Given the description of an element on the screen output the (x, y) to click on. 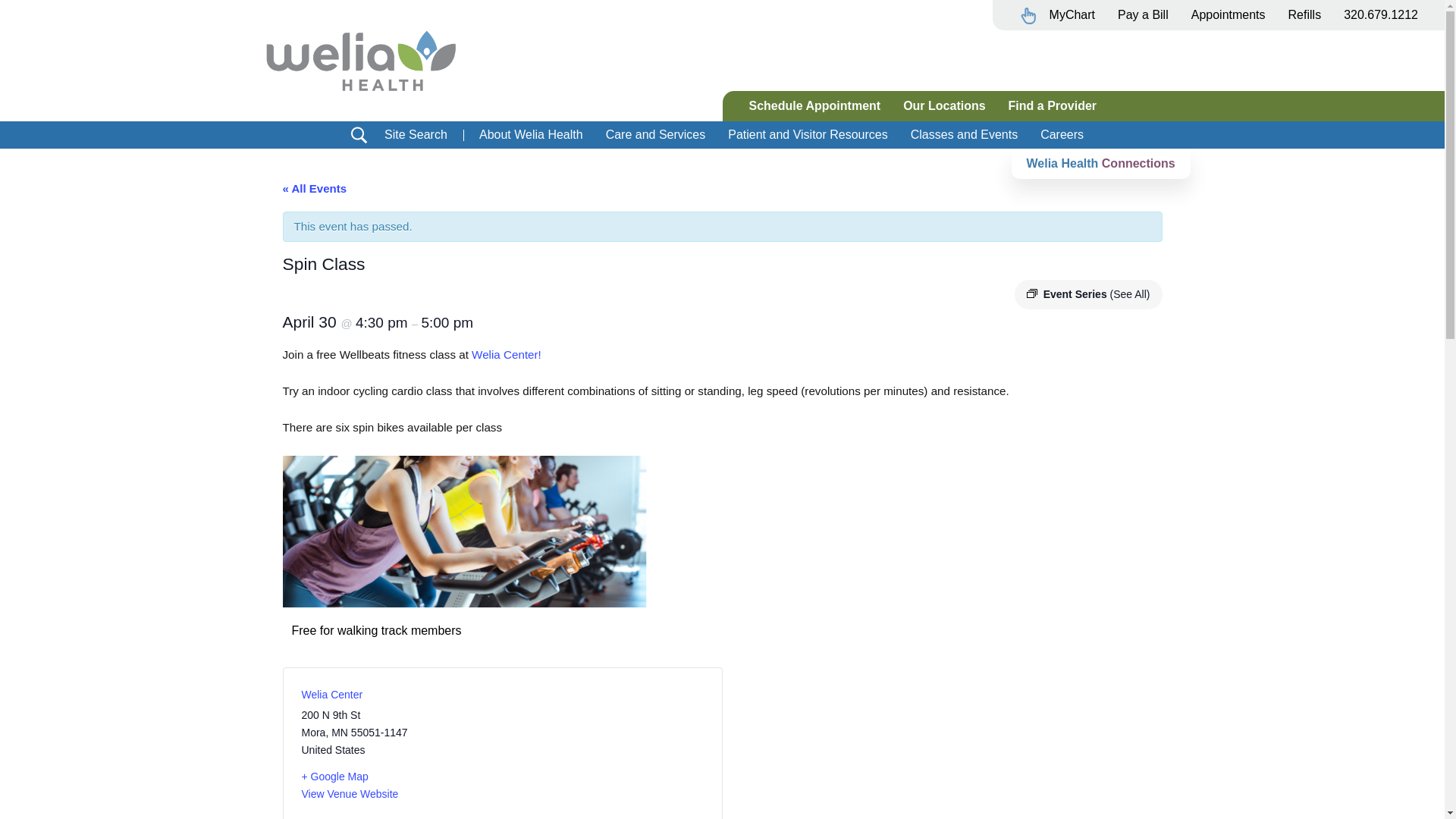
Appointments (1227, 14)
Schedule Appointment (813, 105)
Careers (1061, 134)
Event Series (1031, 294)
Find a Provider (1052, 105)
Care and Services (655, 134)
MyChart (1056, 18)
Our Locations (943, 105)
Patient and Visitor Resources (807, 134)
Welia Health Connections (1101, 163)
Classes and Events (964, 134)
Welia Center (331, 694)
Minnesota (339, 732)
Google maps iframe displaying the address to Welia Center (603, 752)
Event Series (1031, 293)
